Given the description of an element on the screen output the (x, y) to click on. 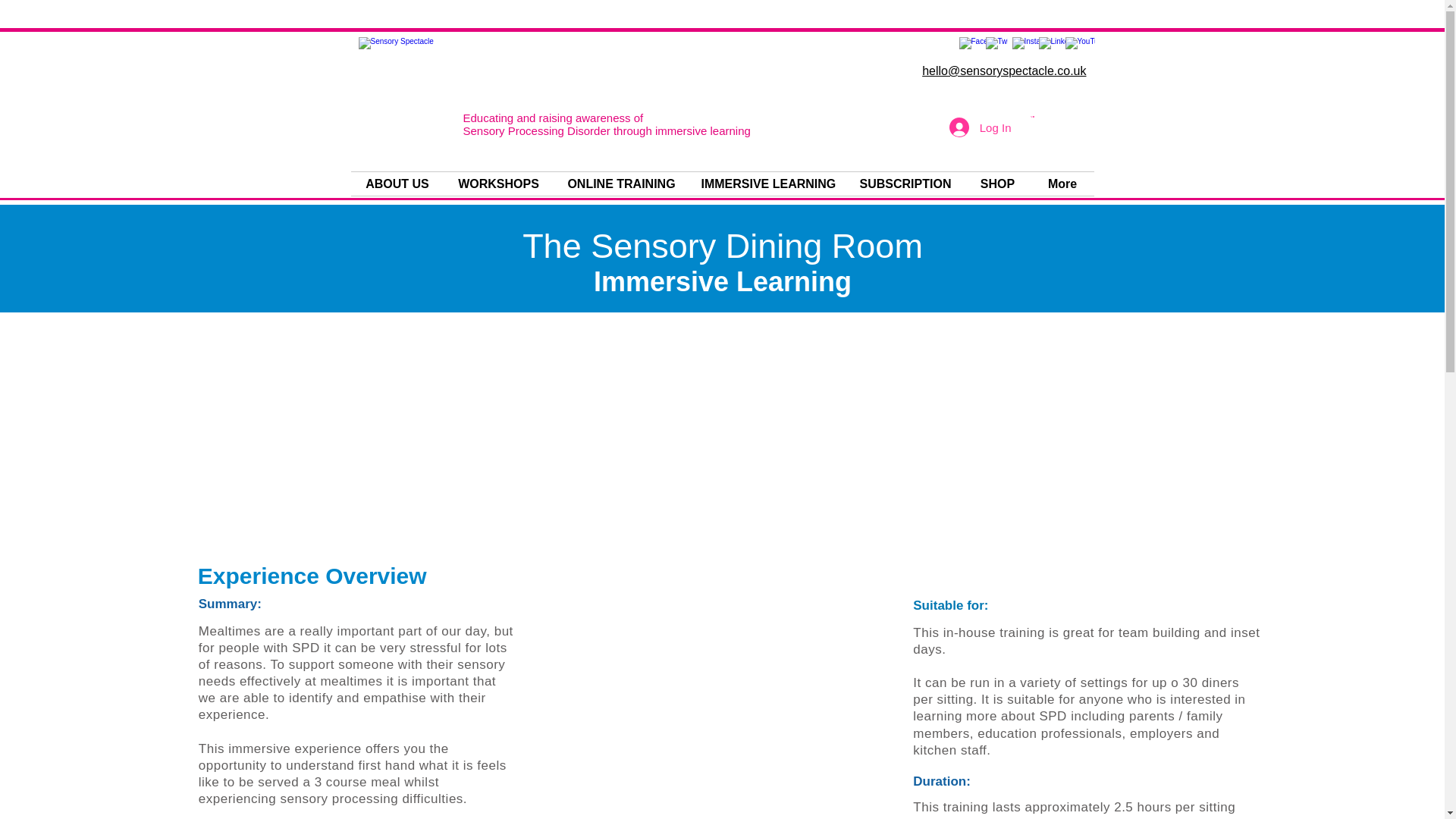
SUBSCRIPTION (904, 183)
IMMERSIVE LEARNING (768, 183)
SHOP (996, 183)
WORKSHOPS (498, 183)
ONLINE TRAINING (621, 183)
ABOUT US (397, 183)
Log In (980, 127)
